Given the description of an element on the screen output the (x, y) to click on. 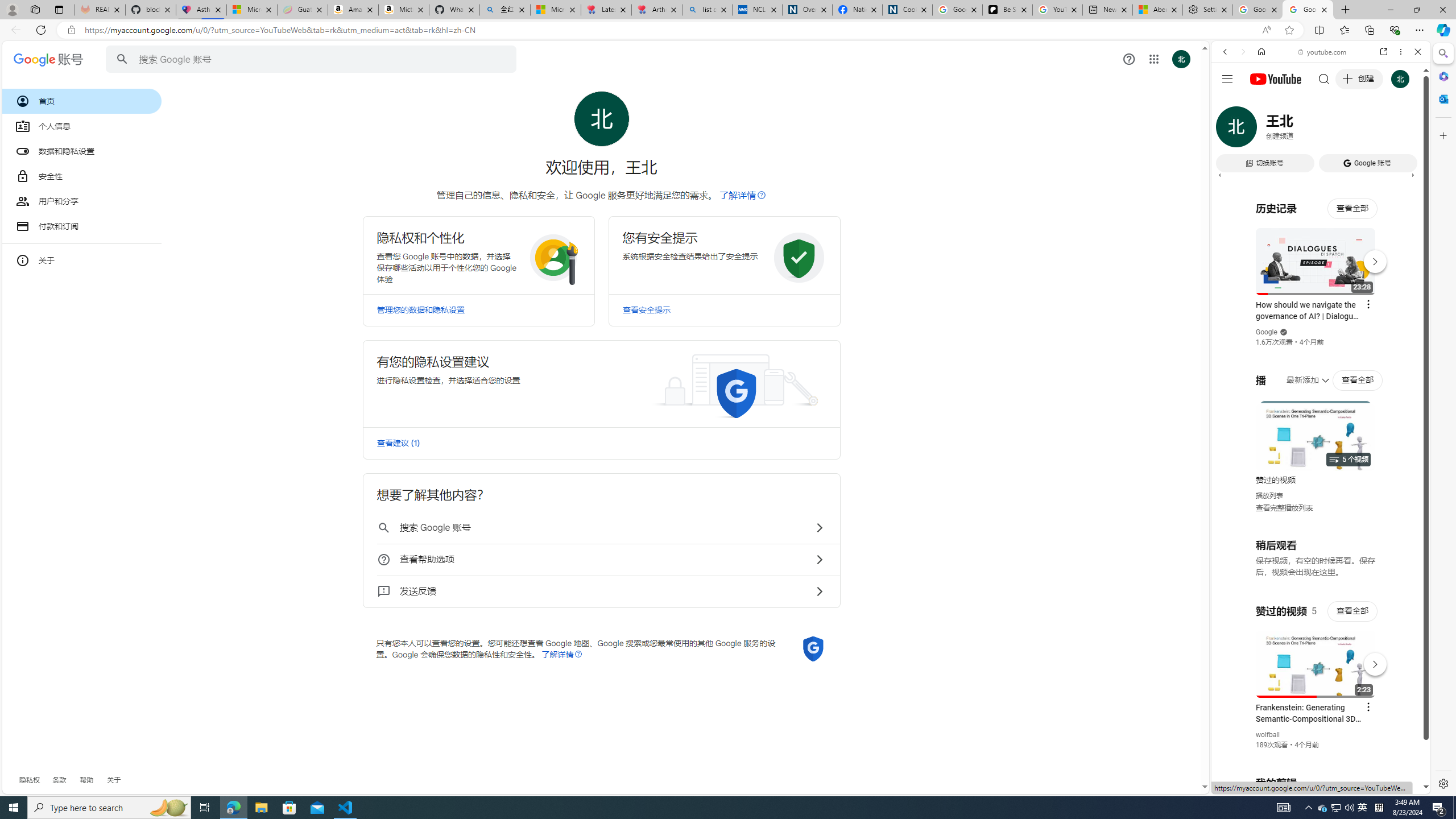
YouTube (1315, 655)
Music (1320, 309)
YouTube - YouTube (1315, 560)
